Given the description of an element on the screen output the (x, y) to click on. 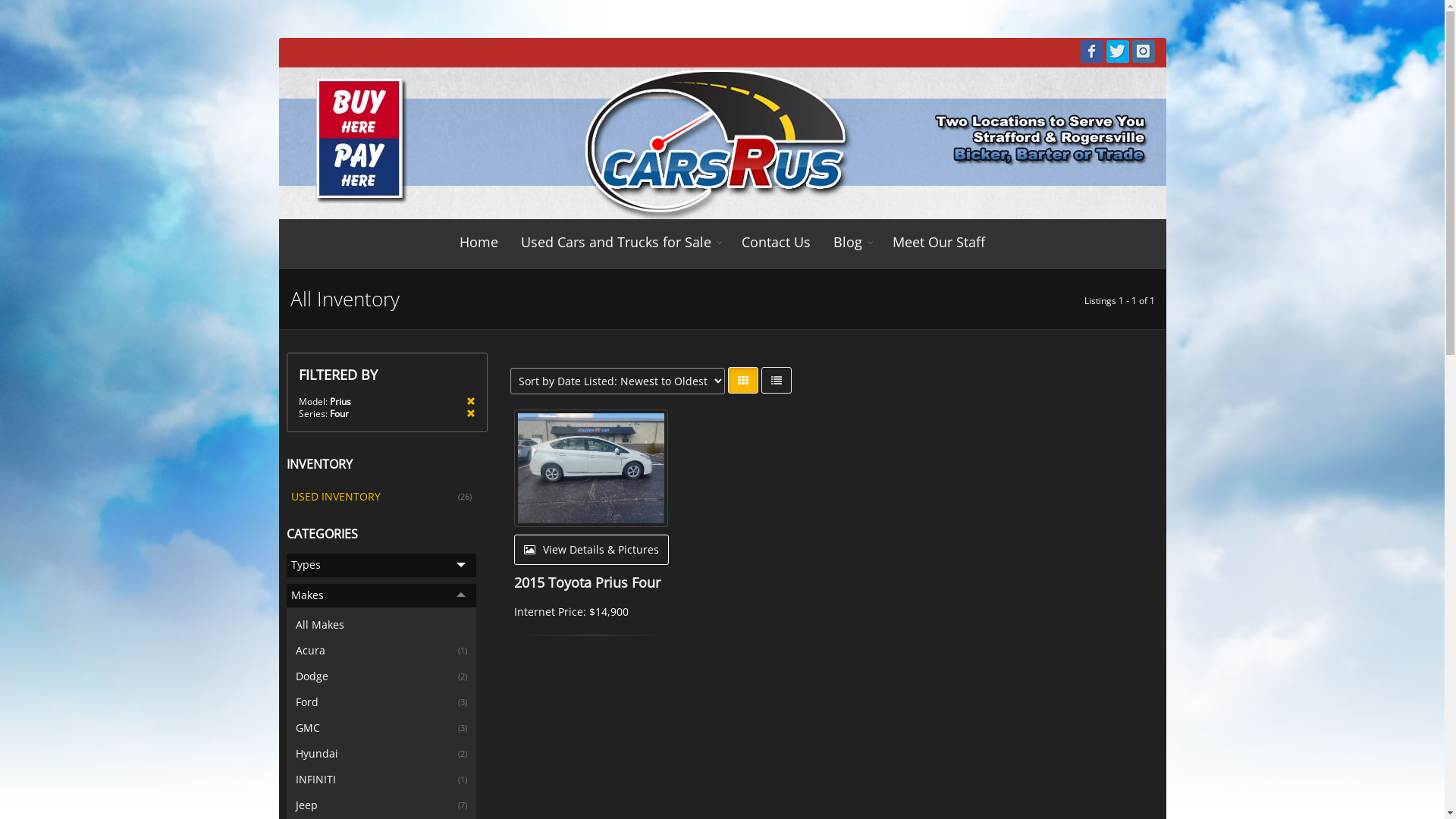
Blog Element type: text (851, 241)
(26)
USED INVENTORY Element type: text (381, 496)
All Makes Element type: text (381, 624)
Contact Us Element type: text (776, 241)
(2)
Dodge Element type: text (381, 676)
2015 Toyota Prius Four Element type: text (587, 582)
(1)
INFINITI Element type: text (381, 779)
Meet Our Staff Element type: text (938, 241)
Home Element type: text (478, 241)
View Details & Pictures Element type: text (591, 549)
(3)
Ford Element type: text (381, 702)
(1)
Acura Element type: text (381, 650)
Used Cars and Trucks for Sale Element type: text (619, 241)
(7)
Jeep Element type: text (381, 805)
(2)
Hyundai Element type: text (381, 753)
(3)
GMC Element type: text (381, 727)
